Given the description of an element on the screen output the (x, y) to click on. 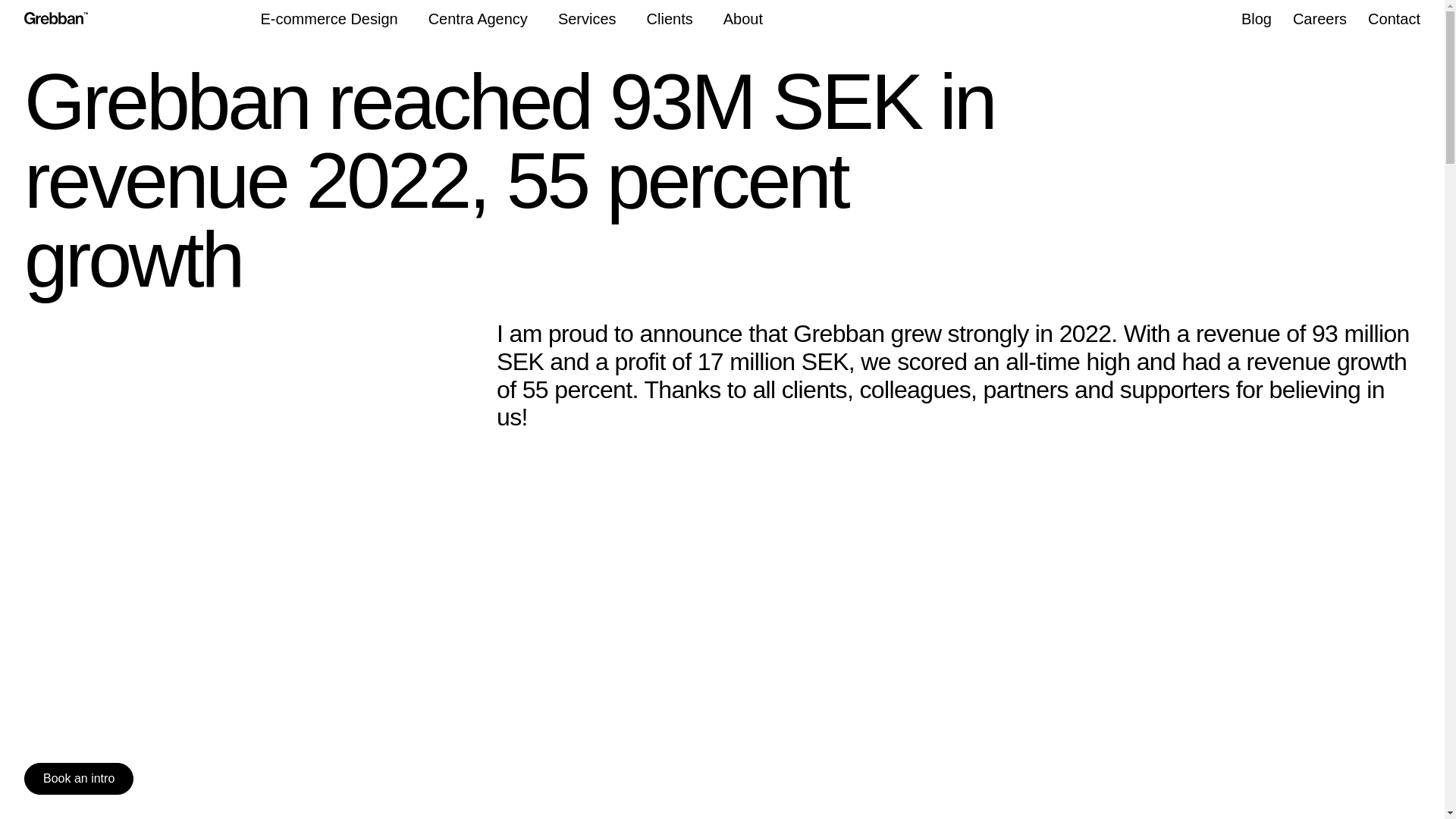
About (742, 18)
Clients (669, 18)
Contact (1394, 18)
E-commerce Design (328, 18)
Careers (1319, 18)
Services (586, 18)
Centra Agency (477, 18)
Blog (1256, 18)
